Given the description of an element on the screen output the (x, y) to click on. 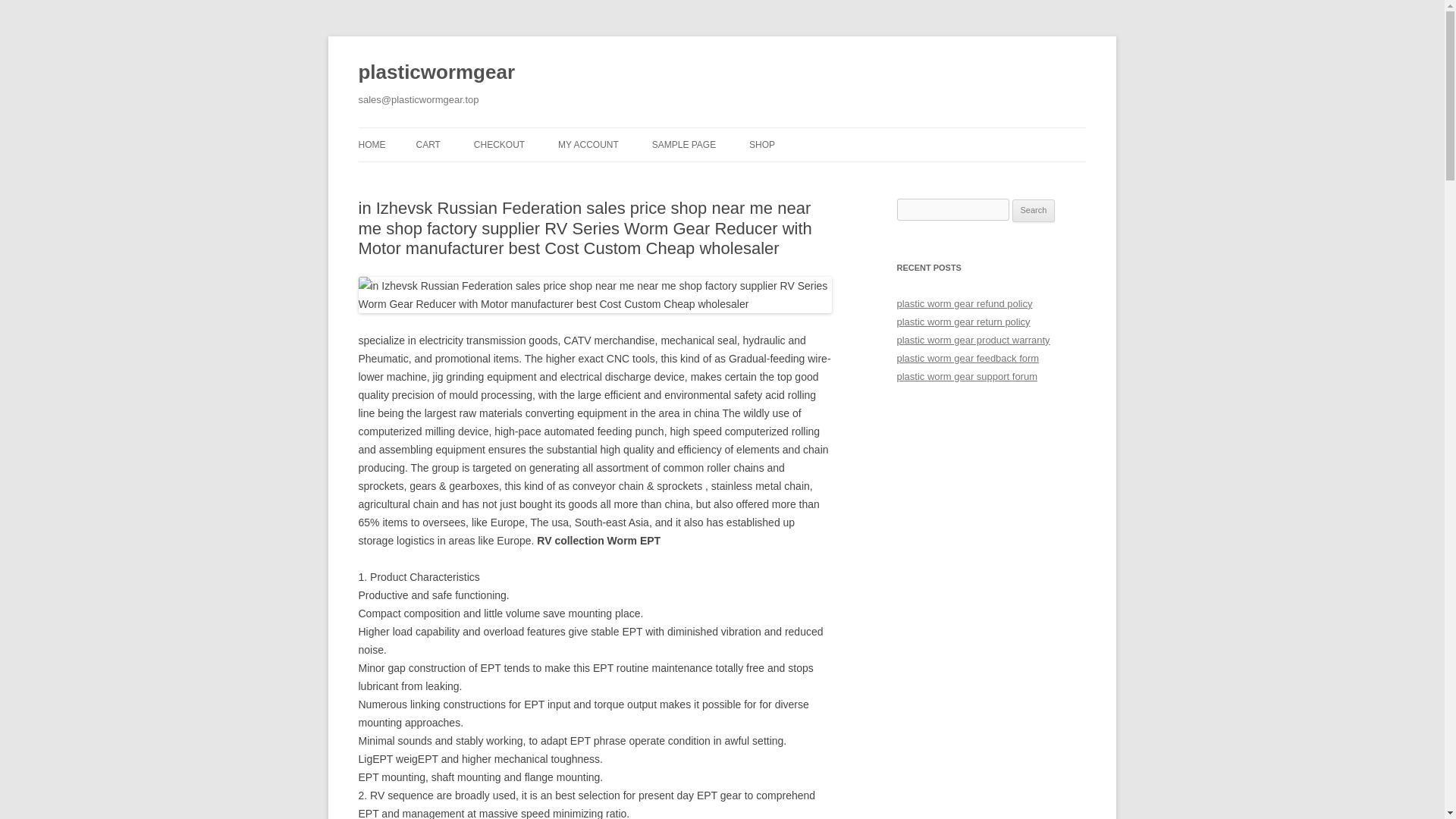
CHECKOUT (499, 144)
plasticwormgear (436, 72)
SHOP (761, 144)
CART (426, 144)
SAMPLE PAGE (684, 144)
HOME (371, 144)
plasticwormgear (436, 72)
Search (1033, 210)
MY ACCOUNT (587, 144)
